Given the description of an element on the screen output the (x, y) to click on. 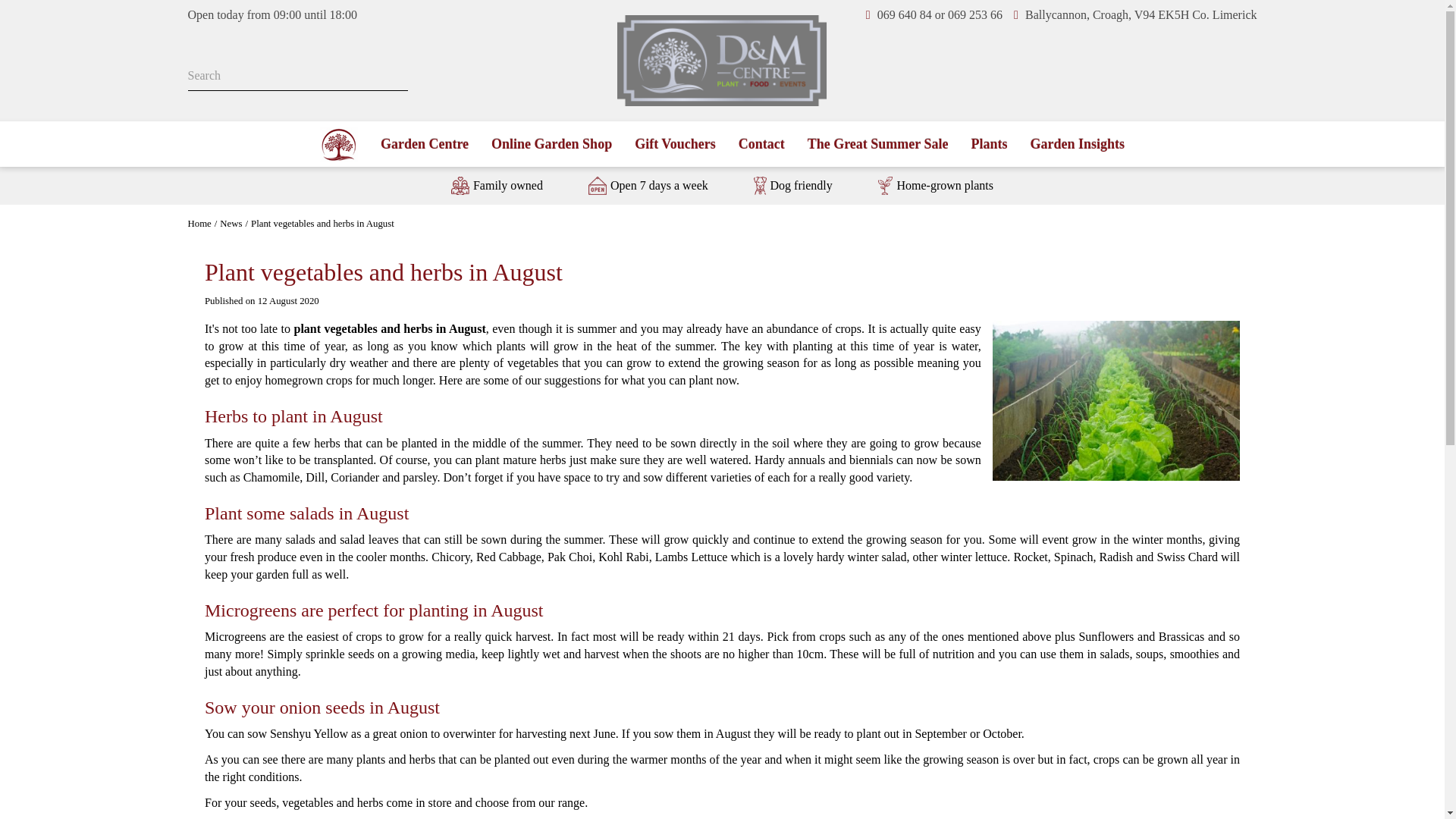
Contact (761, 144)
Garden Insights (1076, 144)
The Great Summer Sale (878, 144)
Plant vegetables and herbs in August (322, 223)
Plant vegetables and herbs in August (322, 223)
Go to the shopping cart (1245, 78)
Home (199, 223)
Online Garden Shop (551, 144)
Online Garden Shop (551, 144)
Login (1177, 78)
